Given the description of an element on the screen output the (x, y) to click on. 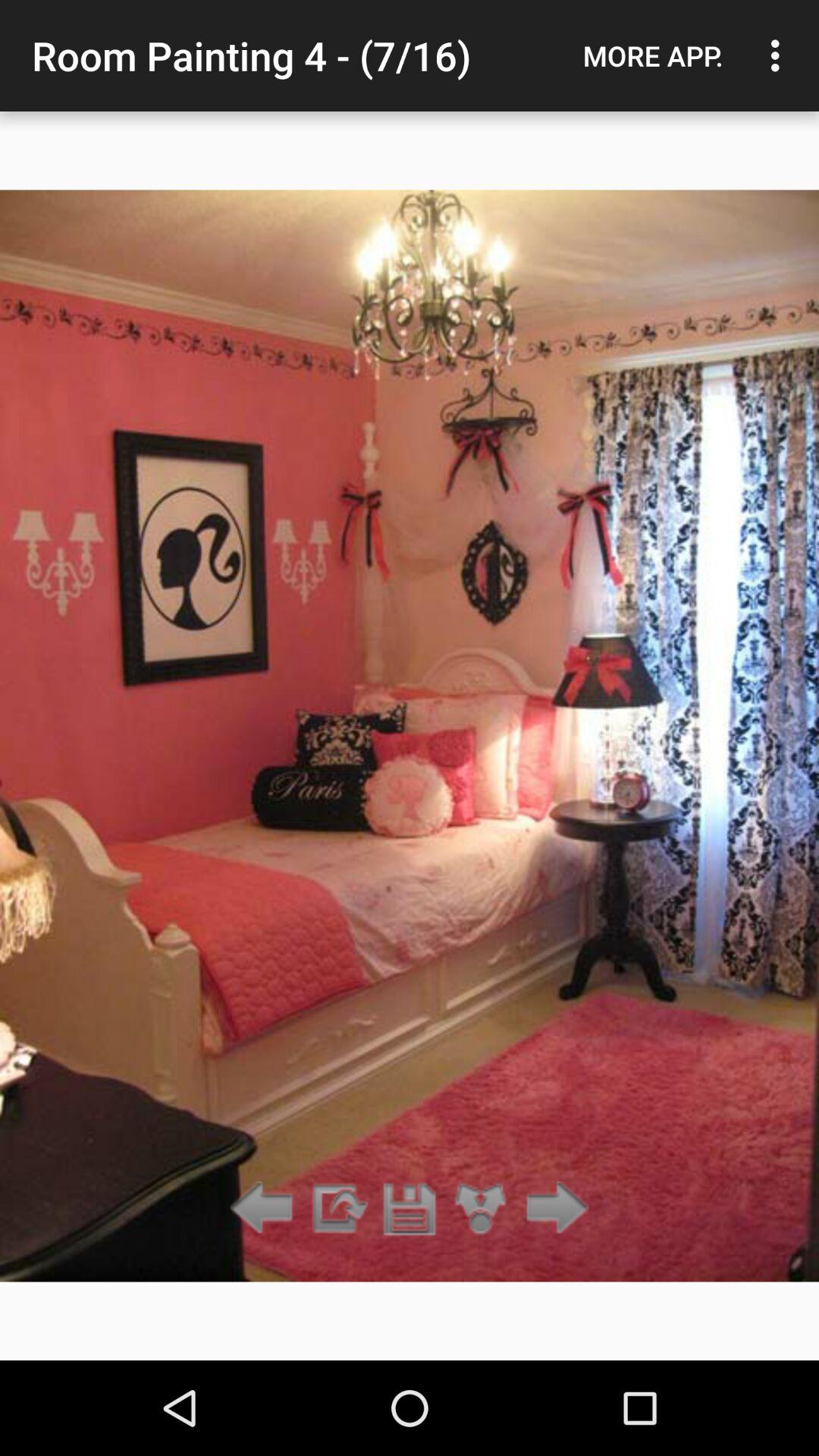
turn off app below room painting 4 icon (480, 1208)
